Given the description of an element on the screen output the (x, y) to click on. 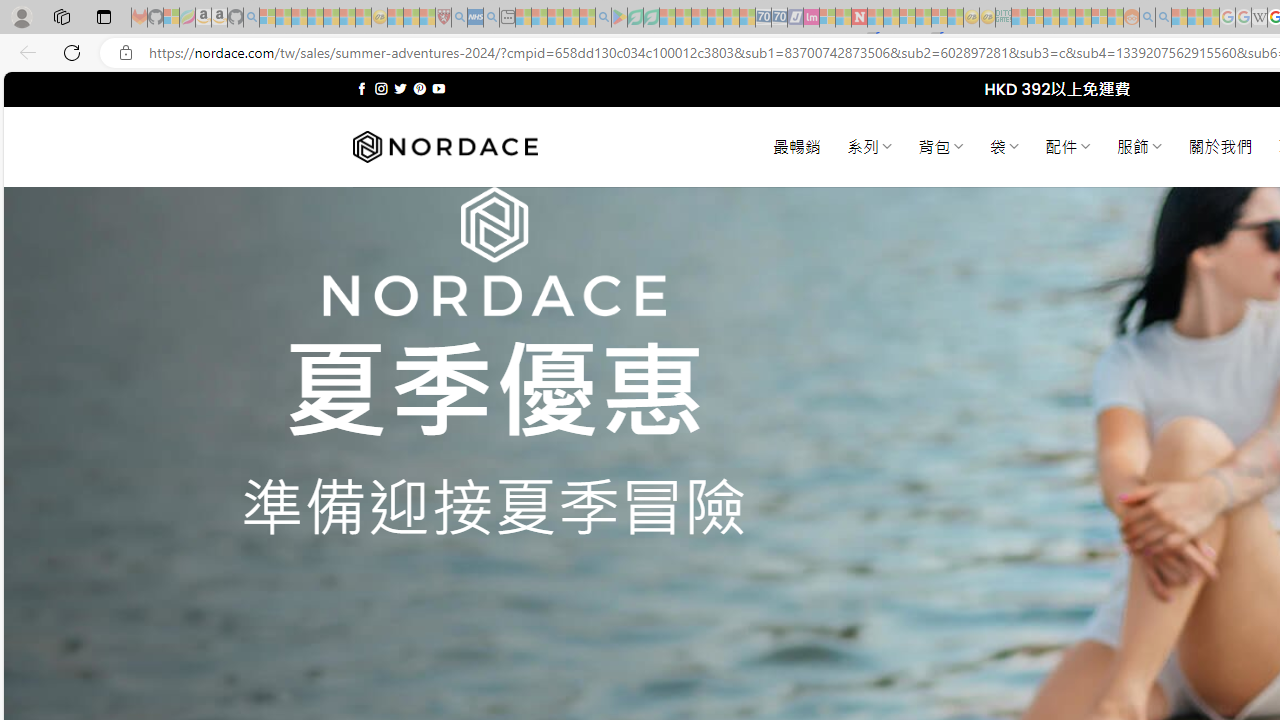
Follow on Instagram (381, 88)
Terms of Use Agreement - Sleeping (635, 17)
Expert Portfolios - Sleeping (1067, 17)
Kinda Frugal - MSN - Sleeping (1083, 17)
